Given the description of an element on the screen output the (x, y) to click on. 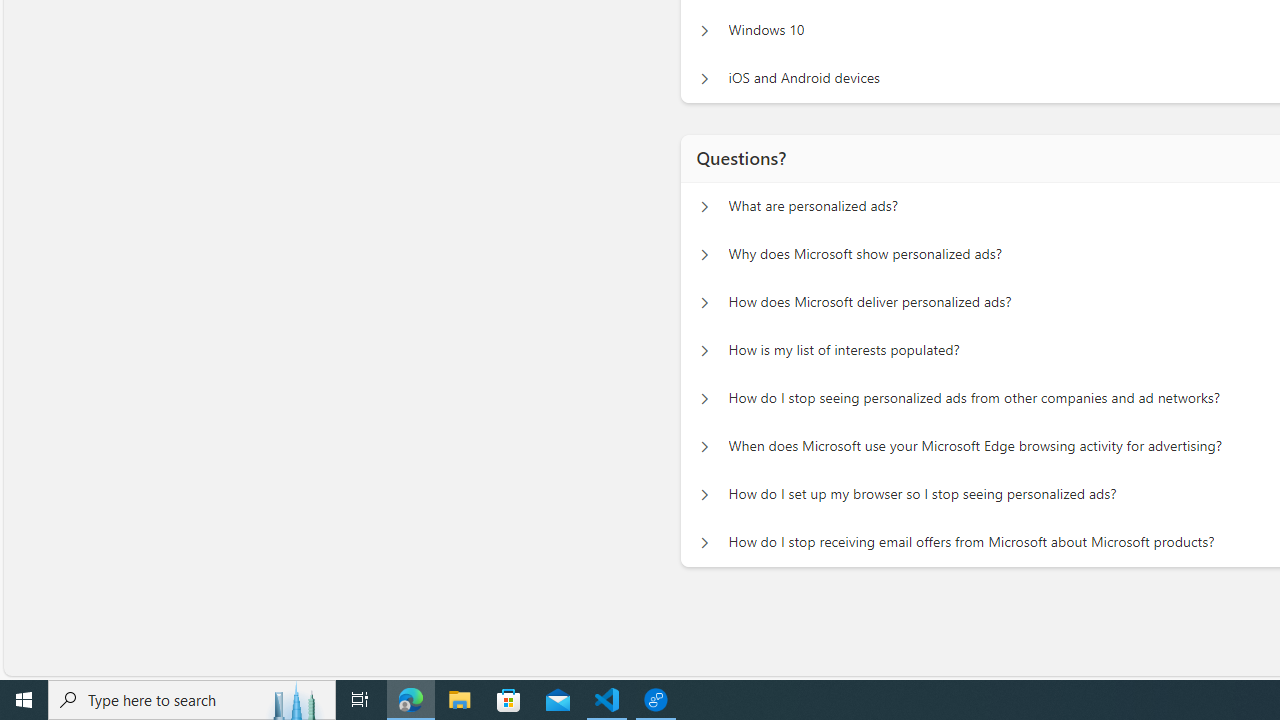
Questions? Why does Microsoft show personalized ads? (704, 255)
Questions? What are personalized ads? (704, 206)
Manage personalized ads on your device Windows 10 (704, 30)
Questions? How does Microsoft deliver personalized ads? (704, 302)
Questions? How is my list of interests populated? (704, 350)
